Given the description of an element on the screen output the (x, y) to click on. 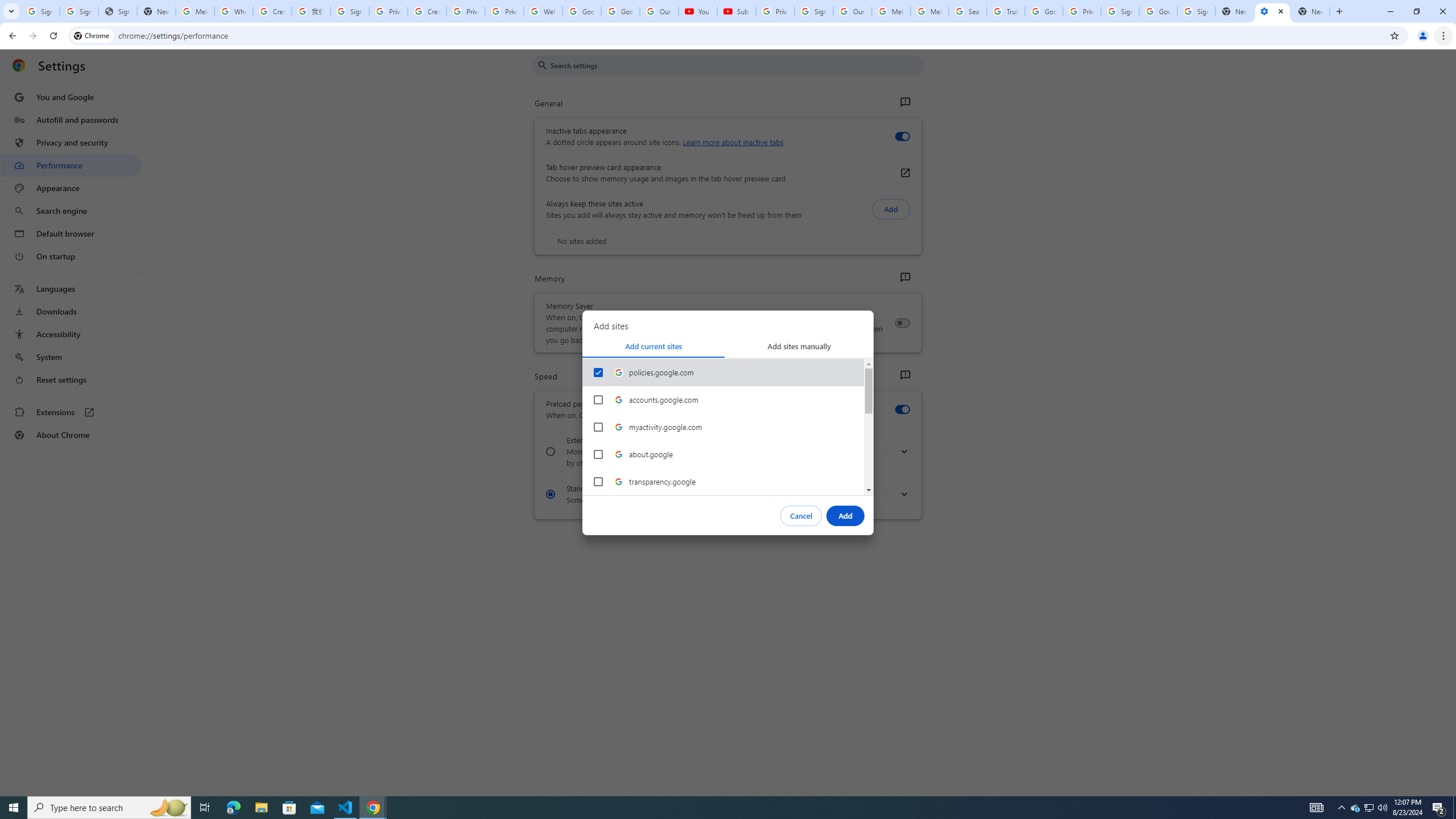
Trusted Information and Content - Google Safety Center (1005, 11)
Settings - Performance (1272, 11)
Welcome to My Activity (542, 11)
Create your Google Account (272, 11)
Add current sites (653, 345)
Who is my administrator? - Google Account Help (233, 11)
New Tab (1311, 11)
